Given the description of an element on the screen output the (x, y) to click on. 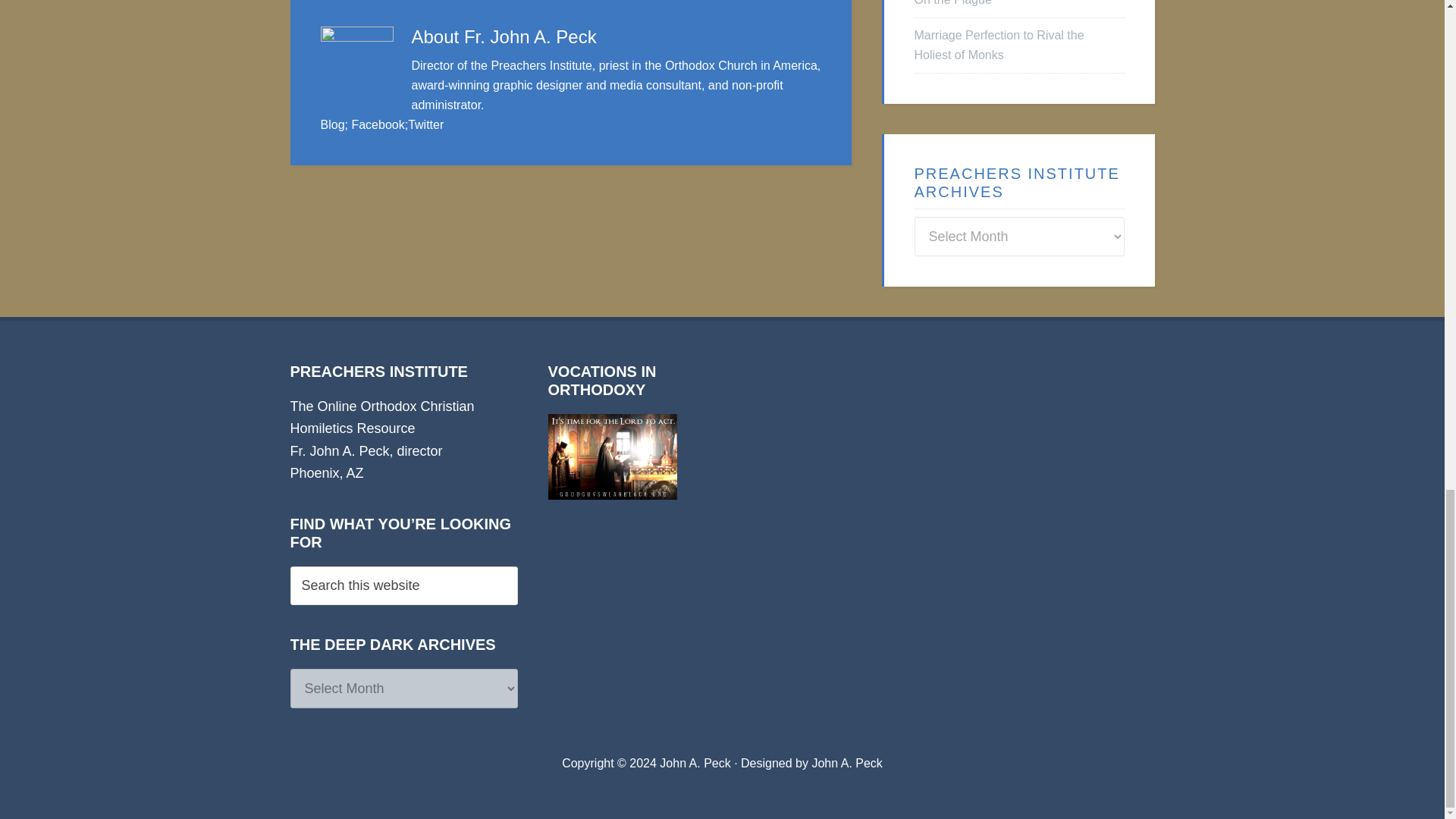
Good Guys Wear Black (612, 456)
